Given the description of an element on the screen output the (x, y) to click on. 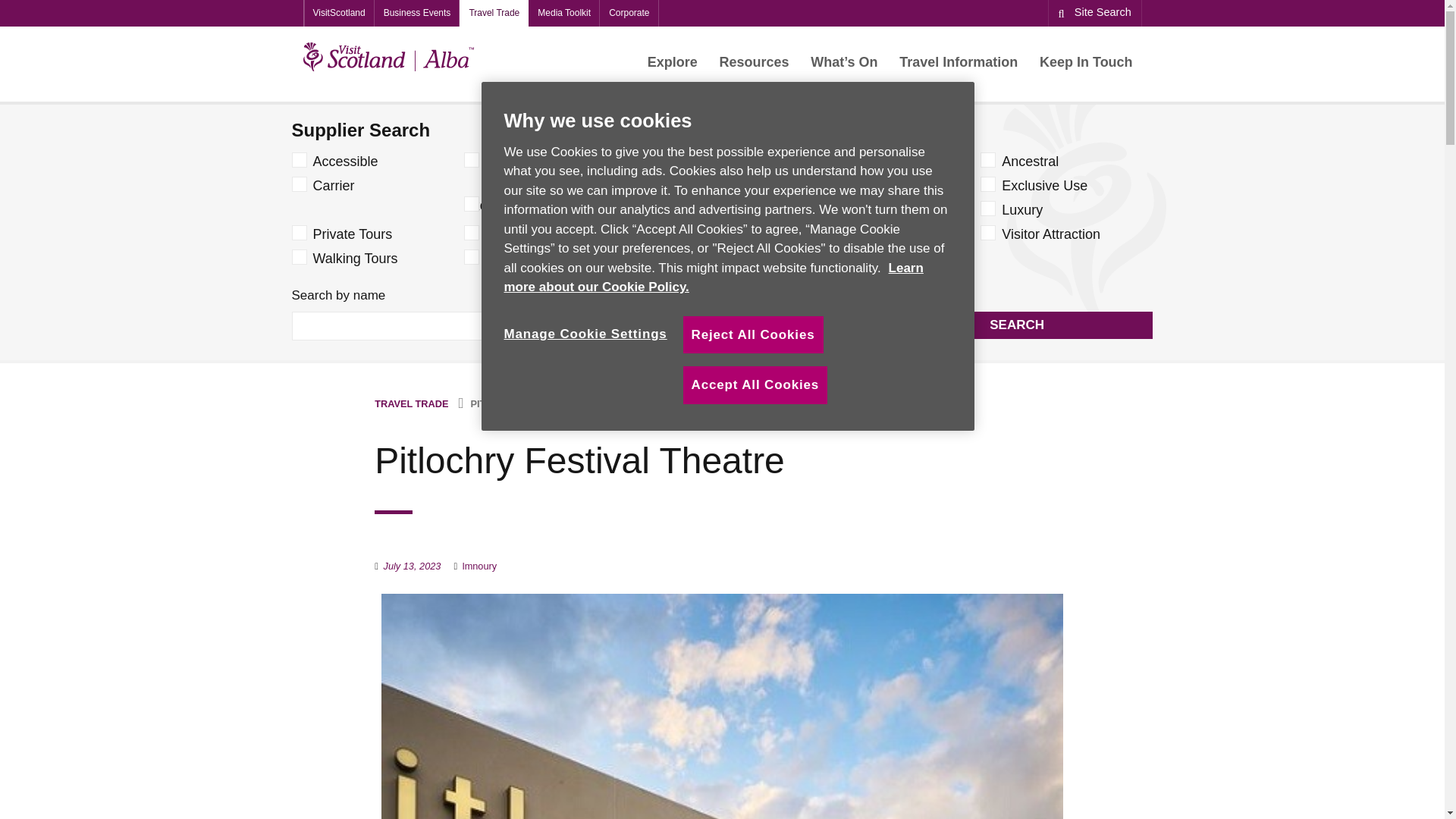
July 13, 2023 (412, 565)
Keep In Touch (1085, 62)
Business Events (417, 13)
Travel Information (957, 62)
Travel Trade (494, 13)
VisitScotland (338, 13)
Media Toolkit (563, 13)
lmnoury (479, 565)
